Given the description of an element on the screen output the (x, y) to click on. 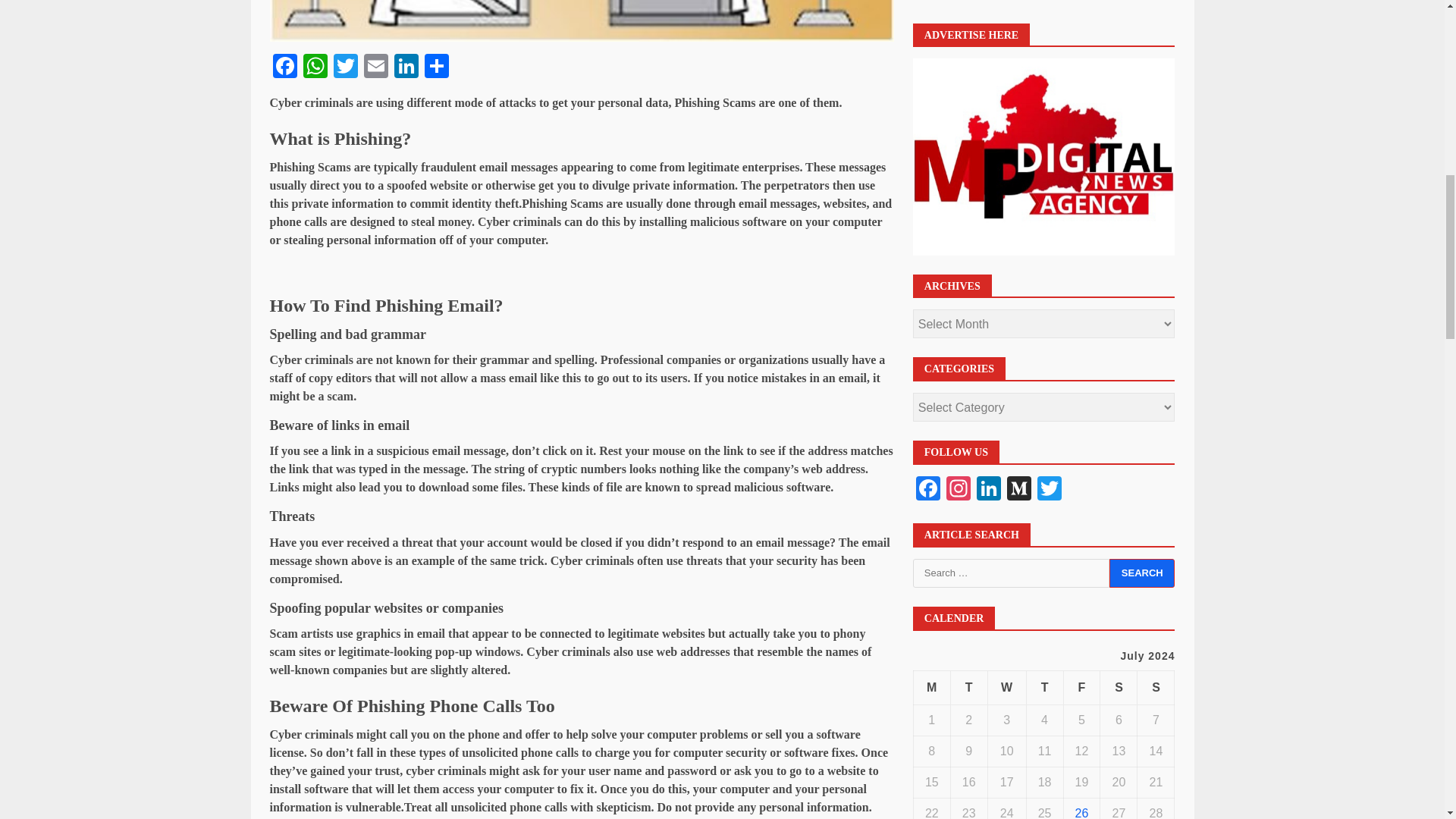
Email (376, 67)
Twitter (345, 67)
Search (1141, 8)
Twitter (345, 67)
Search (1141, 8)
Facebook (284, 67)
LinkedIn (406, 67)
Facebook (284, 67)
WhatsApp (314, 67)
Email (376, 67)
LinkedIn (406, 67)
WhatsApp (314, 67)
Share (436, 67)
